Given the description of an element on the screen output the (x, y) to click on. 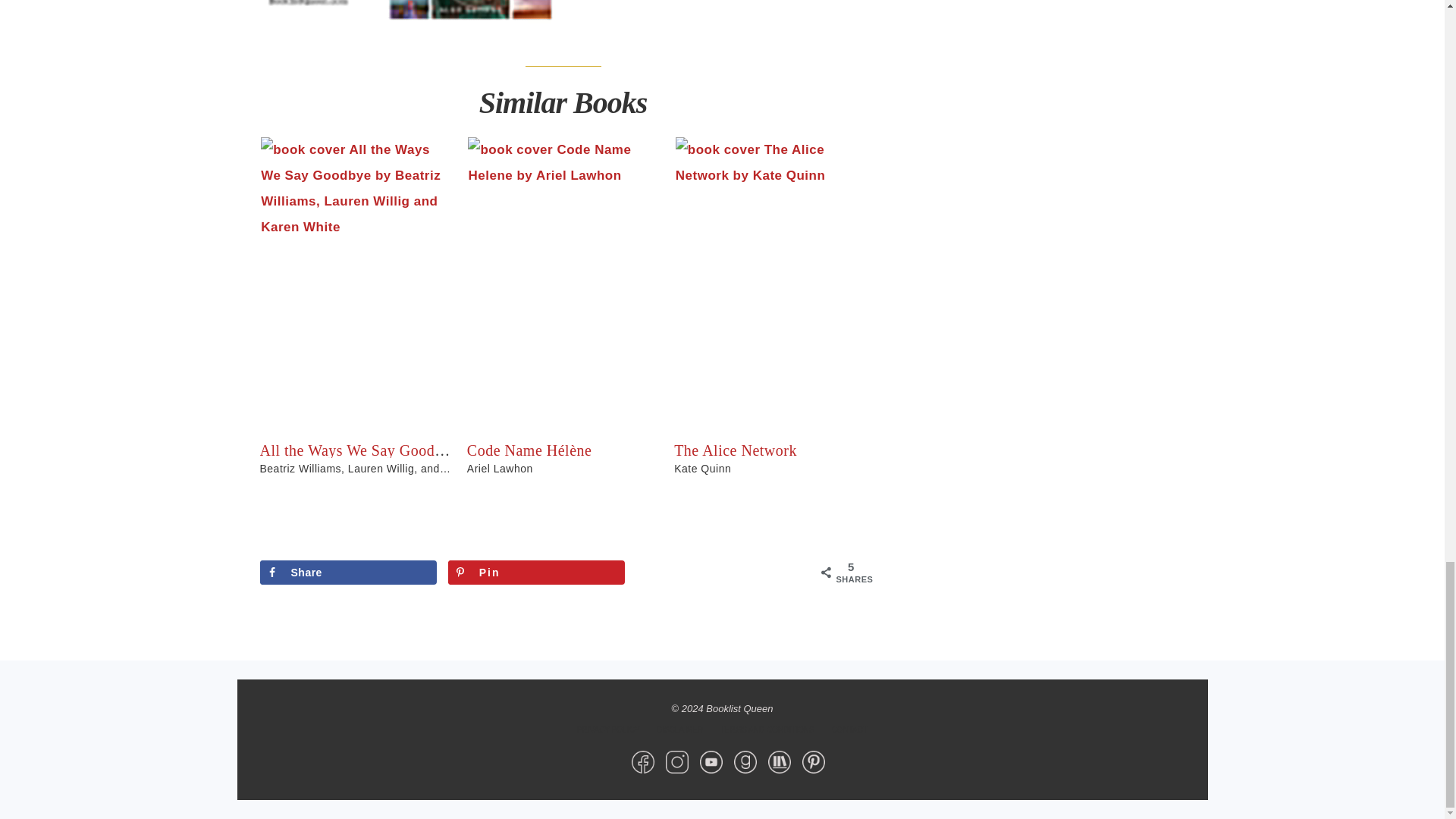
Save to Pinterest (537, 572)
Share on Facebook (347, 572)
Share on X (724, 572)
All the Ways We Say Goodbye (358, 450)
